Given the description of an element on the screen output the (x, y) to click on. 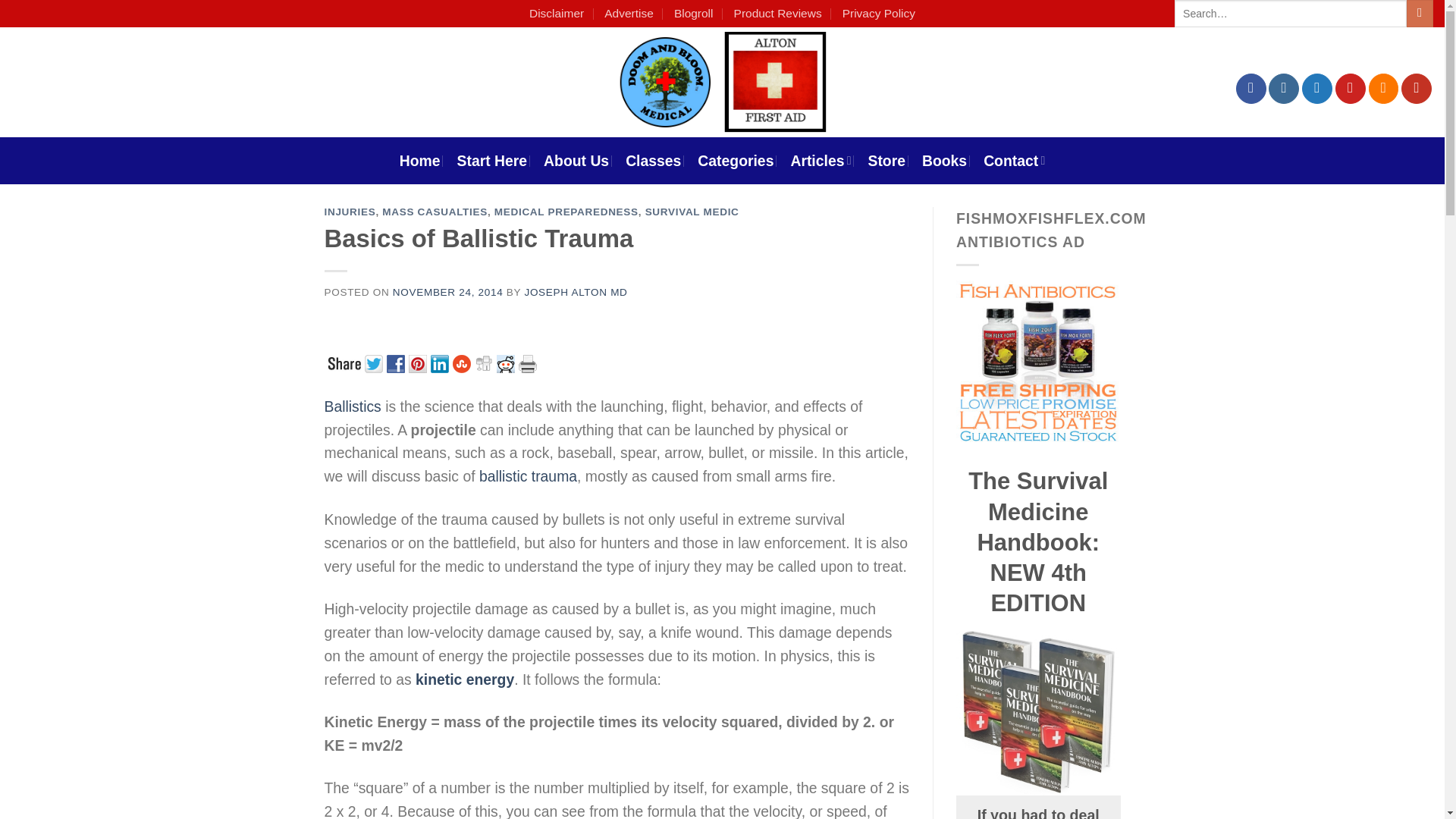
Contact (1014, 160)
MASS CASUALTIES (434, 211)
Classes (653, 160)
Disclaimer (556, 13)
Articles (820, 160)
Follow on Facebook (1251, 88)
Follow on YouTube (1415, 88)
SURVIVAL MEDIC (692, 211)
Books (943, 160)
